Given the description of an element on the screen output the (x, y) to click on. 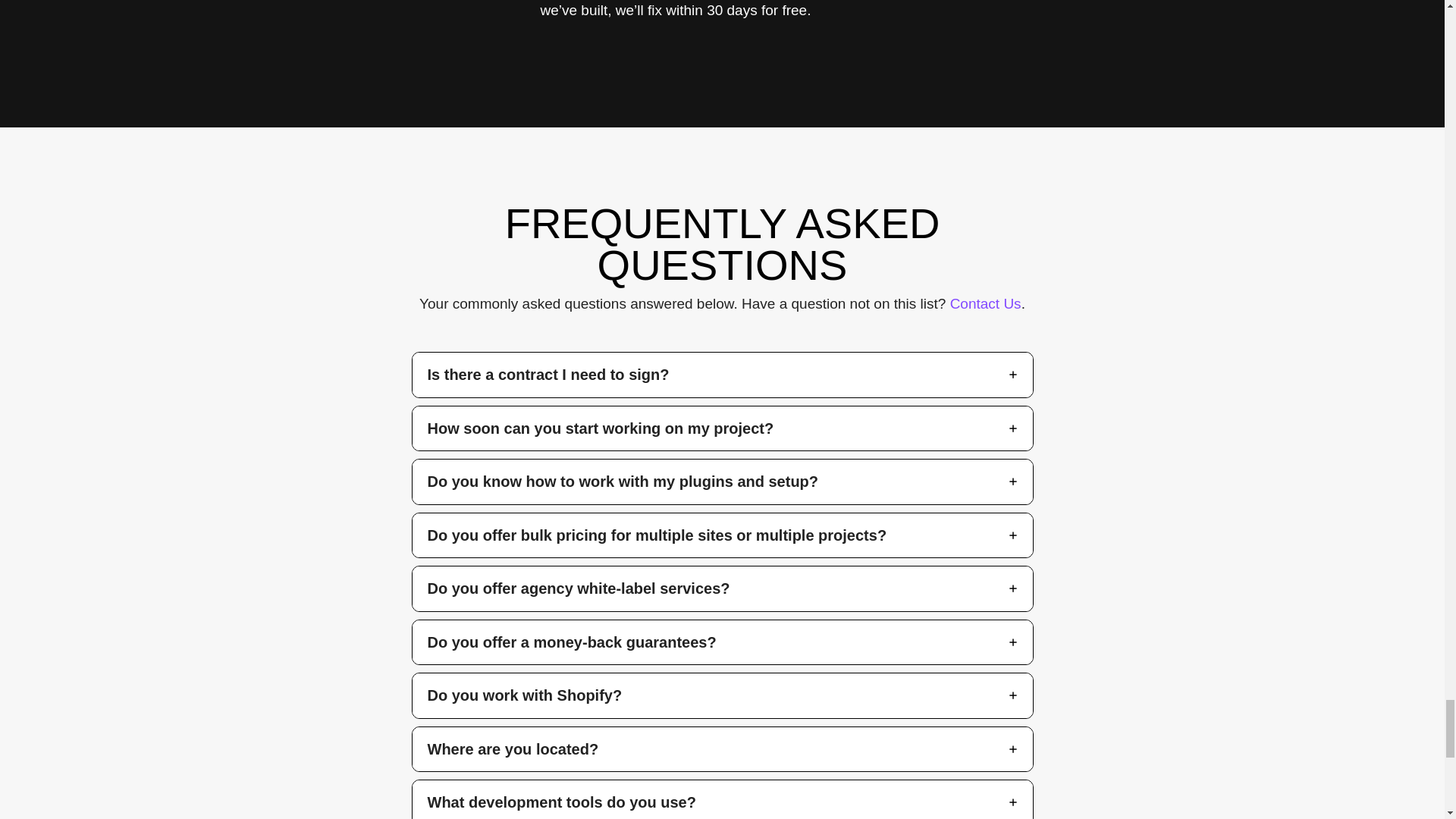
Contact Us (986, 303)
